Given the description of an element on the screen output the (x, y) to click on. 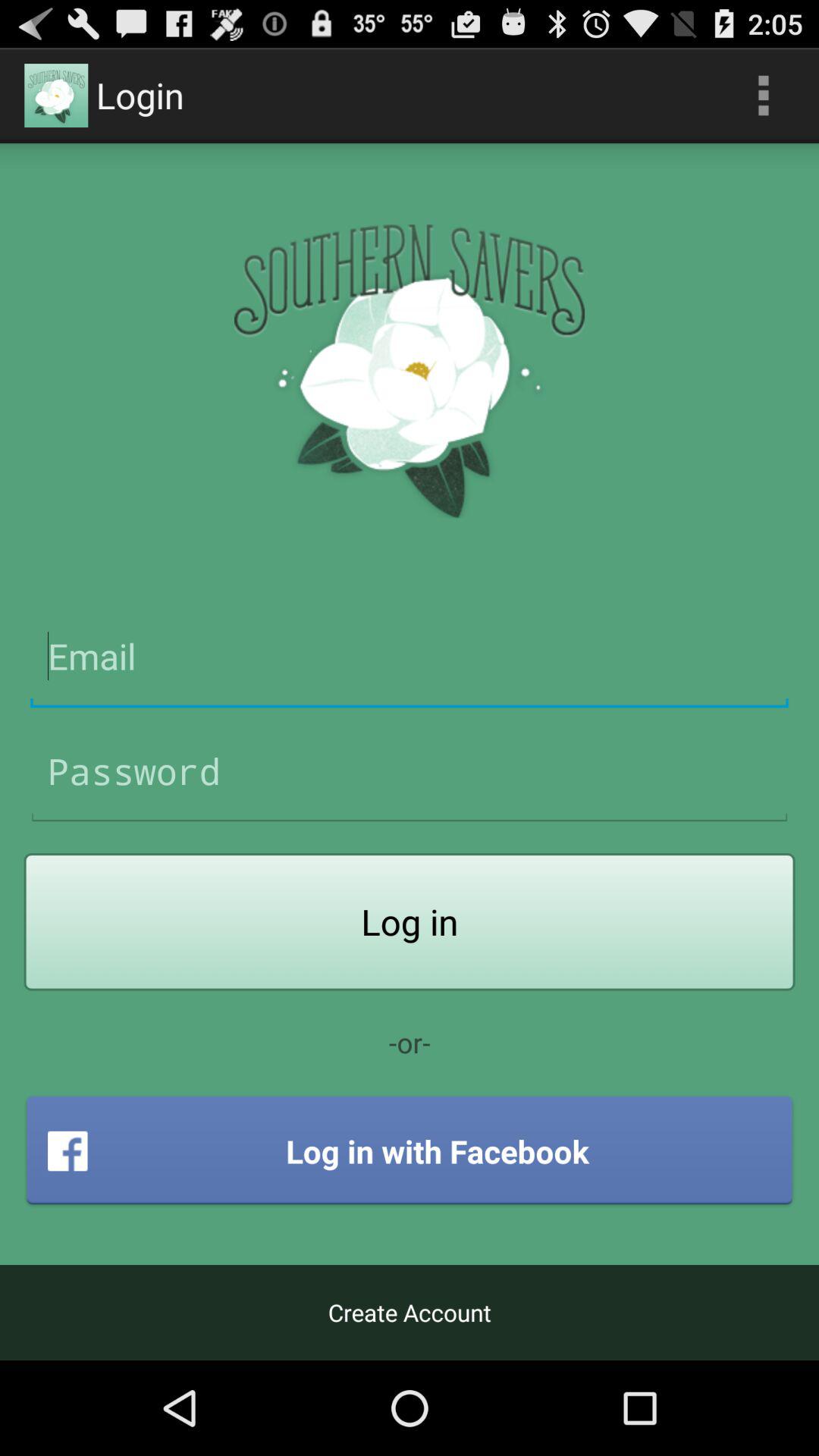
enter email address (409, 656)
